Given the description of an element on the screen output the (x, y) to click on. 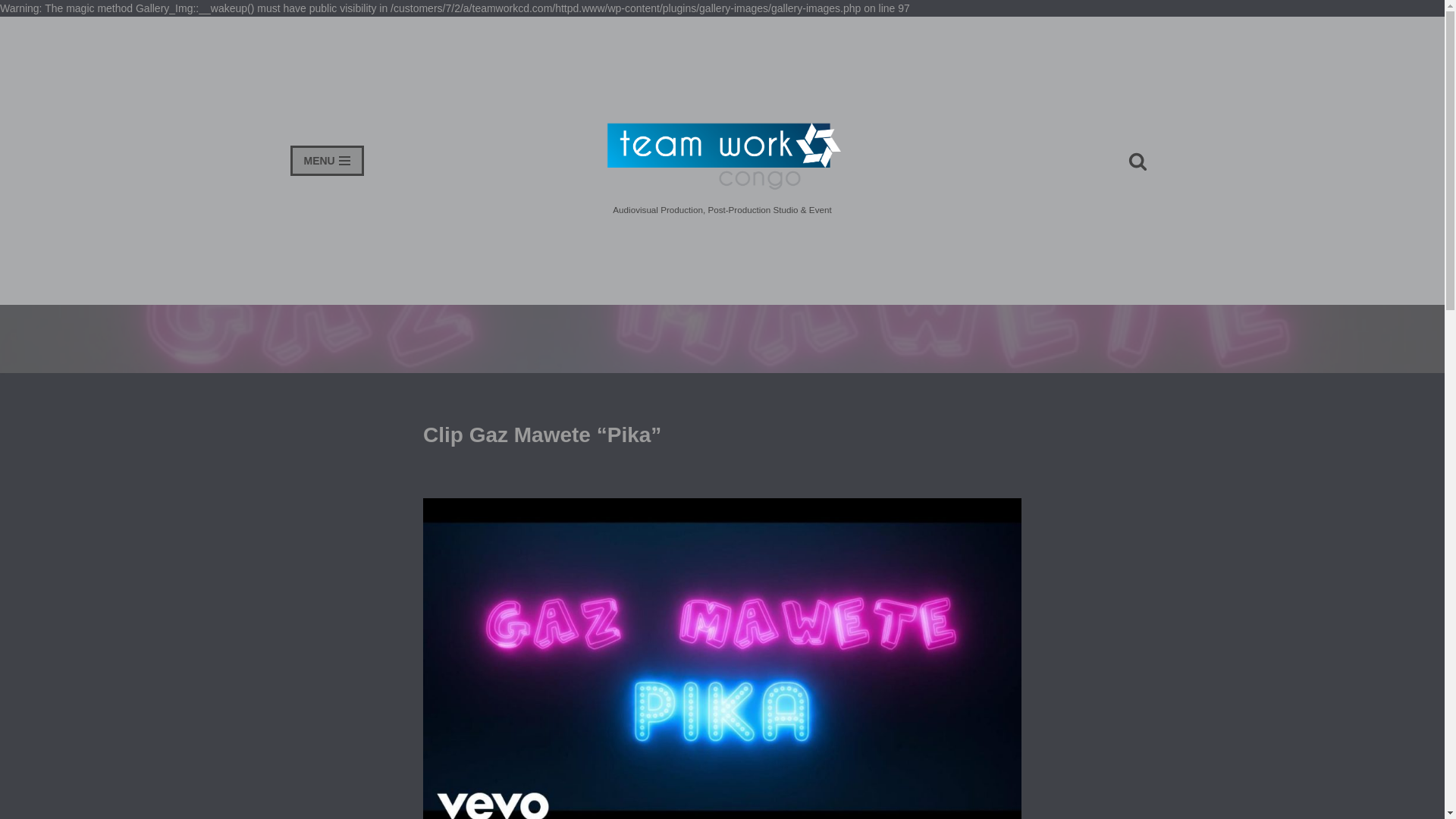
MENU (325, 160)
TeamWork Congo (721, 164)
Skip to content (11, 48)
